Given the description of an element on the screen output the (x, y) to click on. 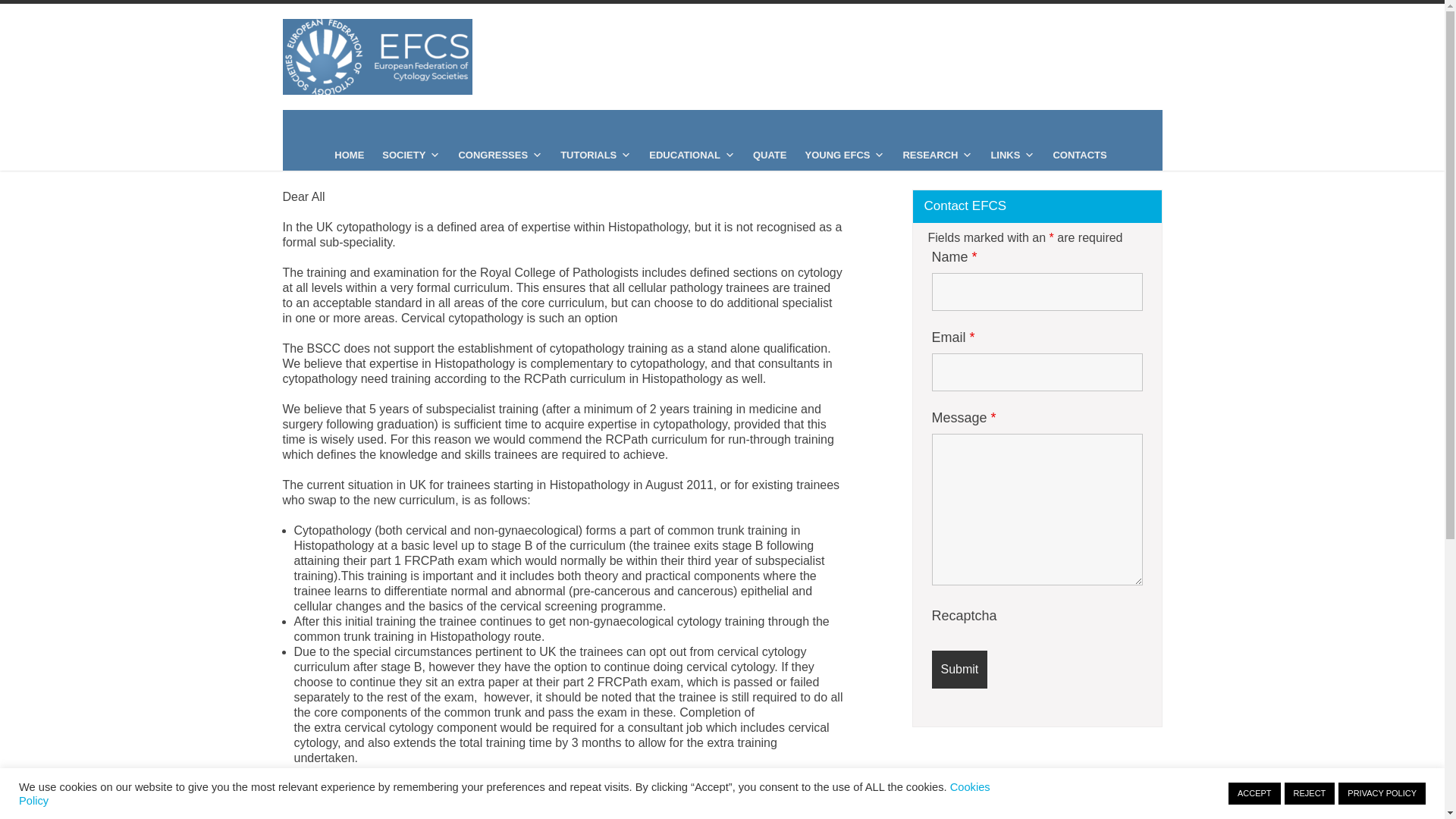
TUTORIALS (596, 155)
HOME (348, 155)
CONGRESSES (499, 155)
Submit (959, 669)
SOCIETY (410, 155)
EDUCATIONAL (692, 155)
